Given the description of an element on the screen output the (x, y) to click on. 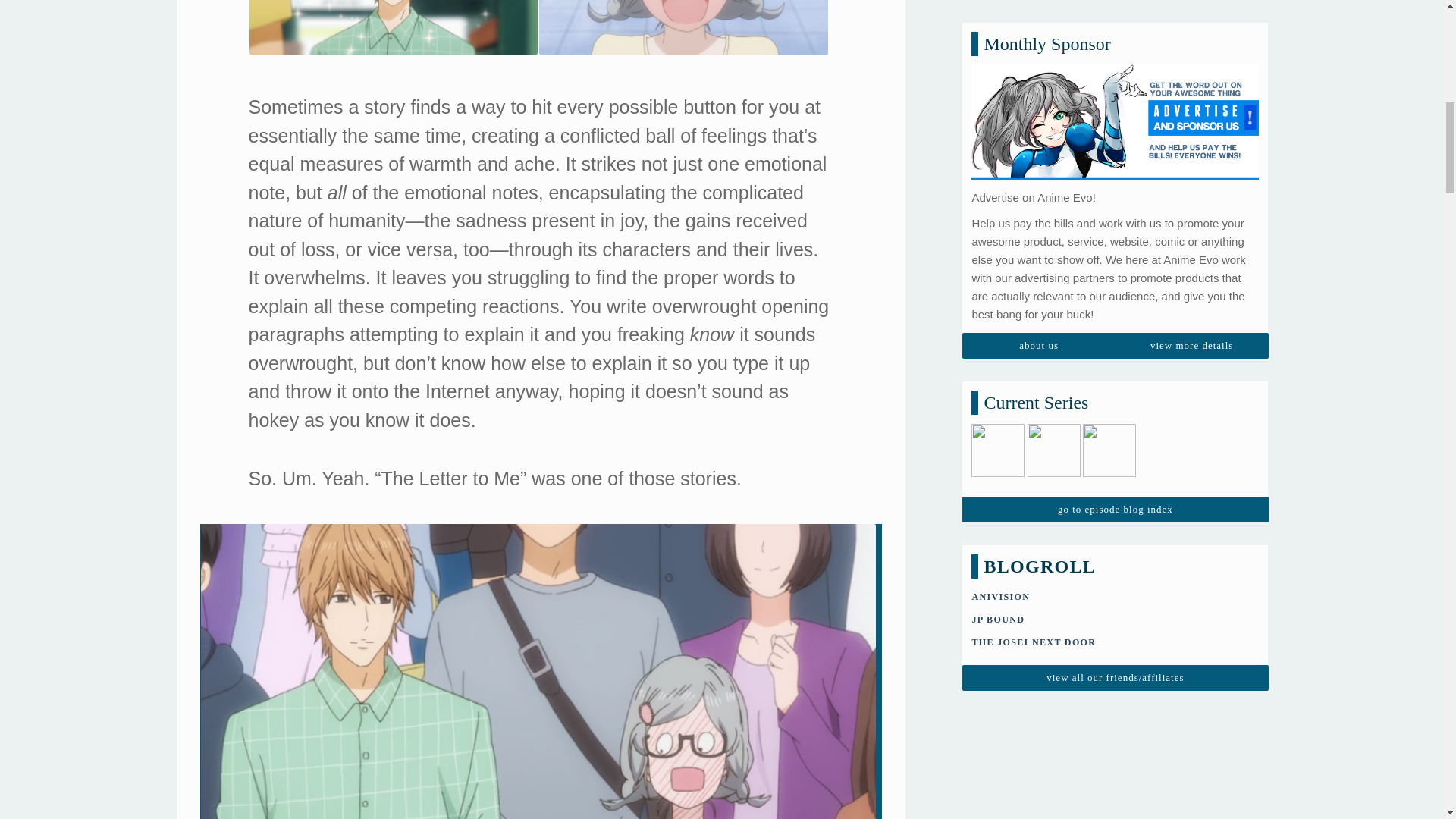
about us (1038, 96)
view more details (1191, 96)
Kaguya-sama 2 EP Blog (1109, 225)
Shokugeki 5 EP Blog (998, 225)
Railgun T EP Blog (1053, 225)
Great Anime Blog run by Dee! (1033, 393)
